Given the description of an element on the screen output the (x, y) to click on. 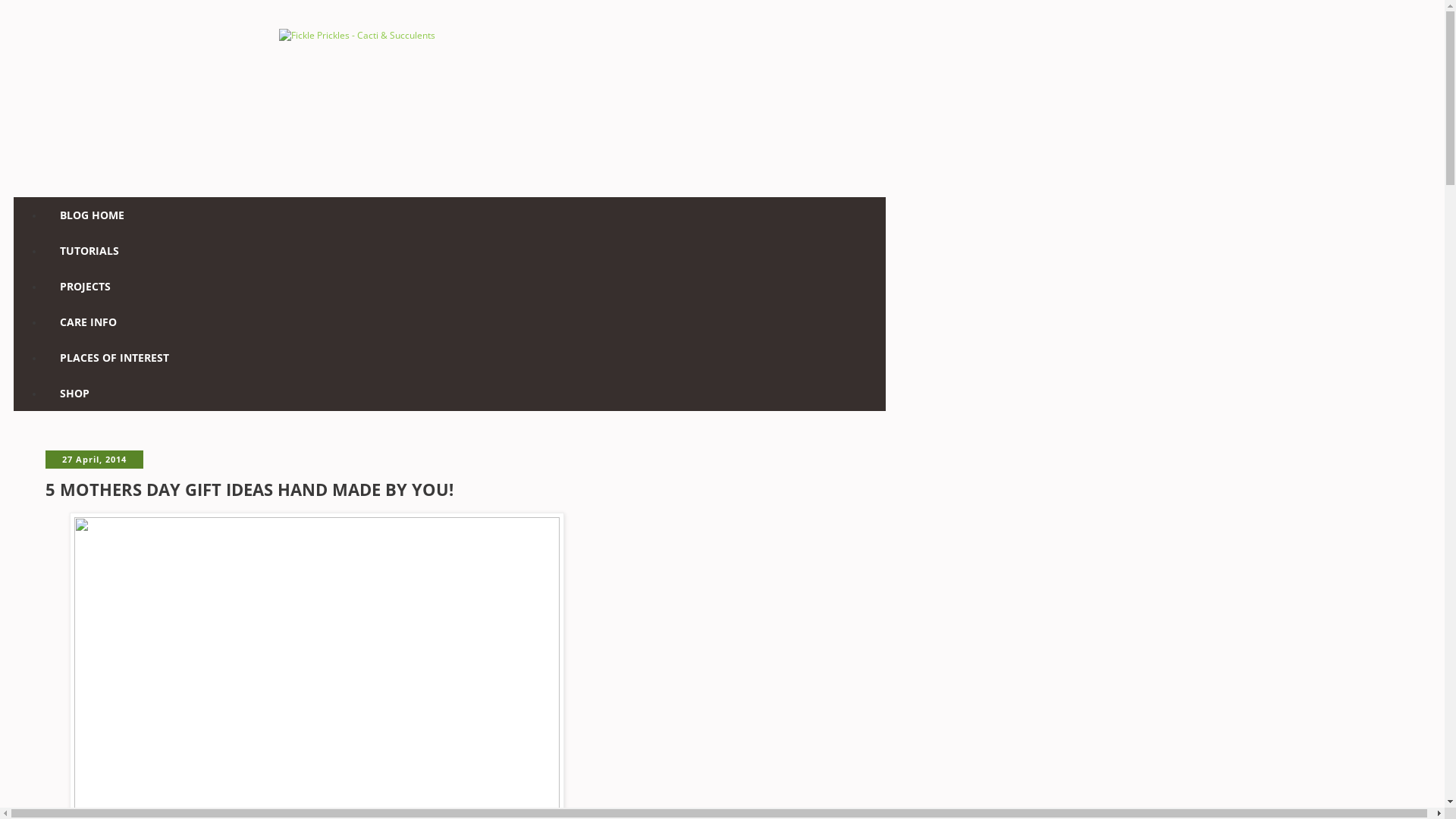
CARE INFO Element type: text (87, 321)
SHOP Element type: text (74, 393)
PROJECTS Element type: text (84, 286)
BLOG HOME Element type: text (91, 214)
PLACES OF INTEREST Element type: text (114, 357)
TUTORIALS Element type: text (88, 250)
